Given the description of an element on the screen output the (x, y) to click on. 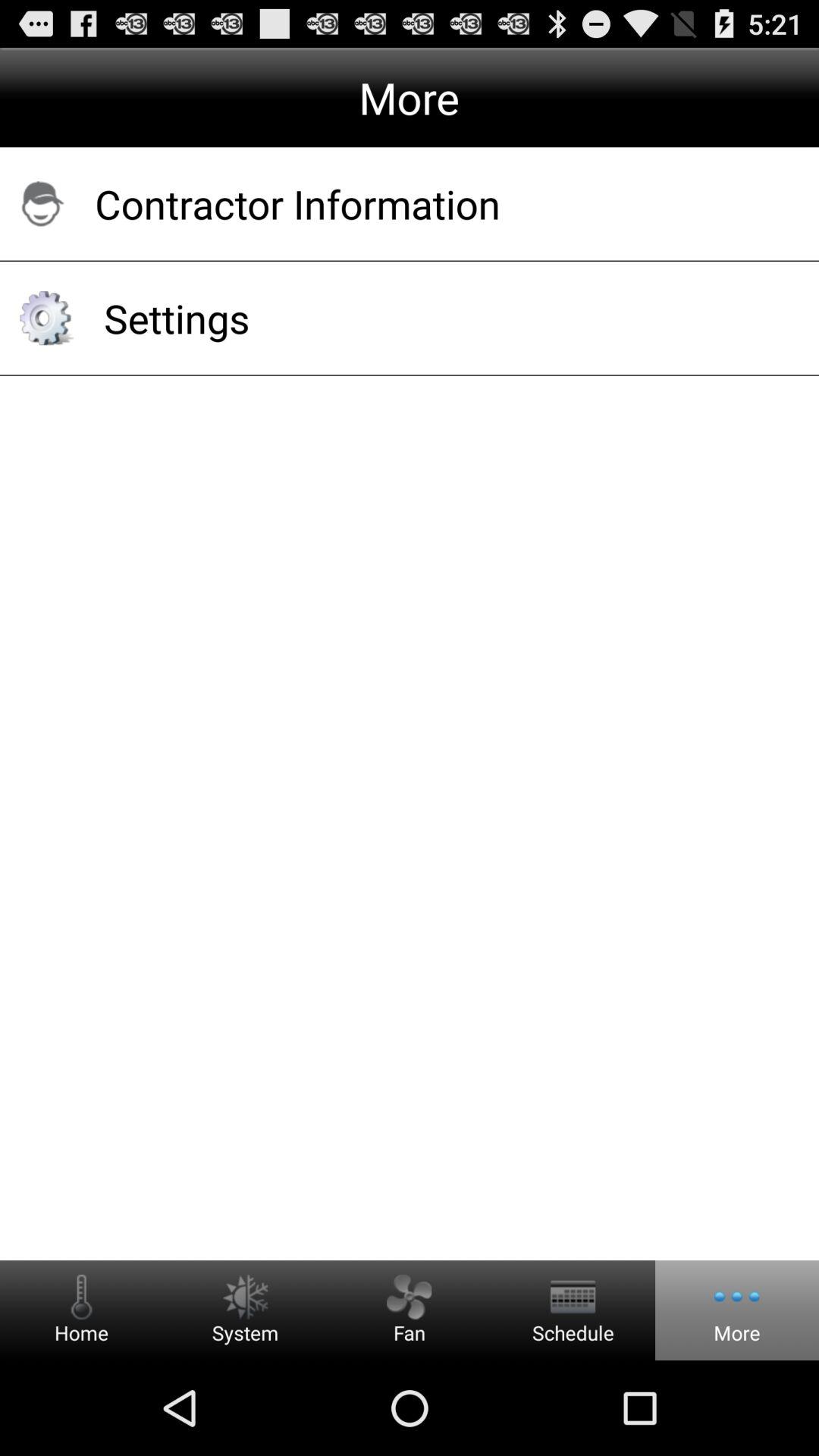
press app above the settings item (437, 203)
